Given the description of an element on the screen output the (x, y) to click on. 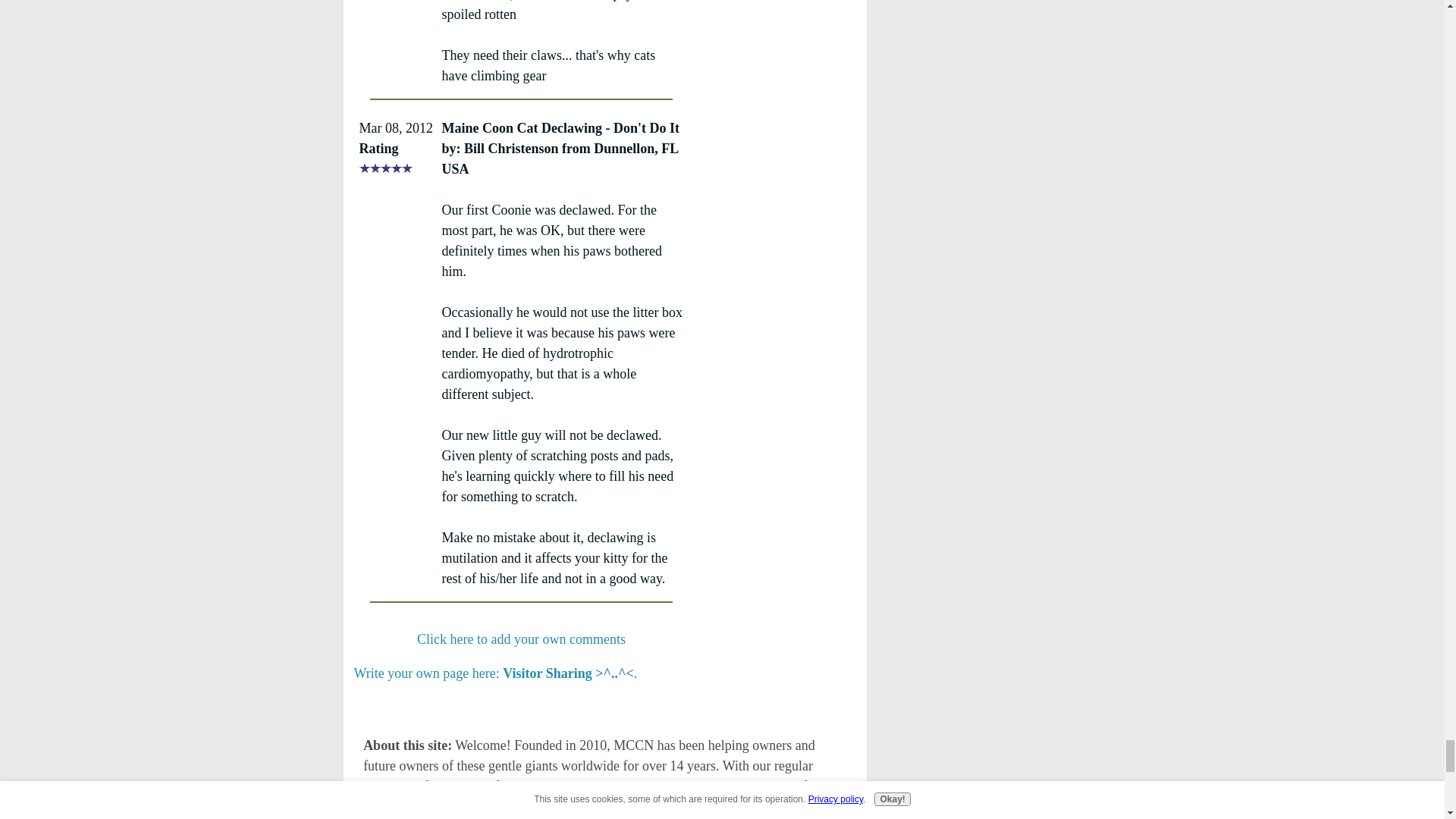
Click here to add your own comments (521, 639)
